Given the description of an element on the screen output the (x, y) to click on. 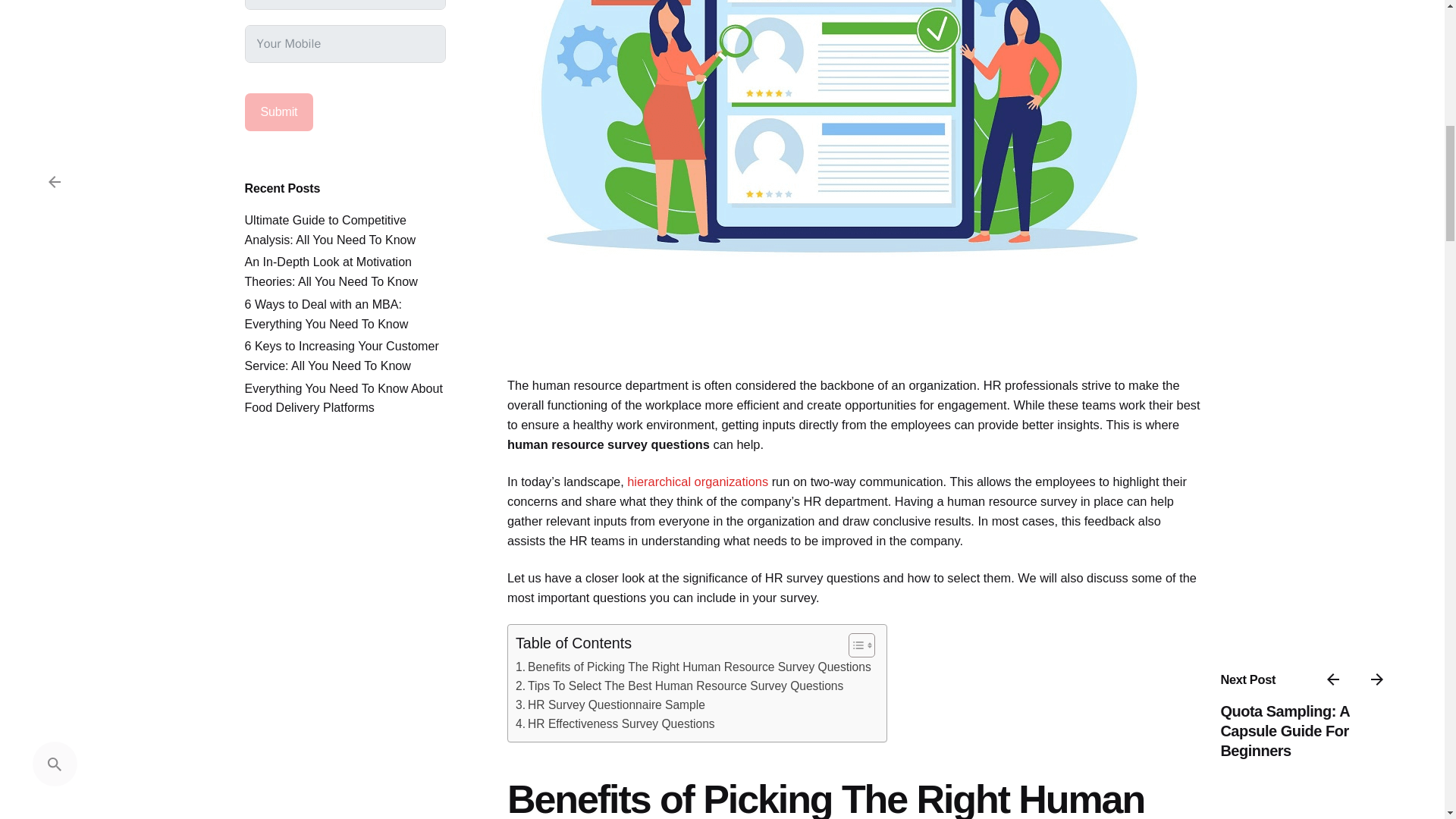
Submit (278, 112)
HR Survey Questionnaire Sample (609, 705)
HR Effectiveness Survey Questions (614, 723)
hierarchical organizations (697, 481)
Everything You Need To Know About Food Delivery Platforms (343, 397)
HR Survey Questionnaire Sample (609, 705)
